Given the description of an element on the screen output the (x, y) to click on. 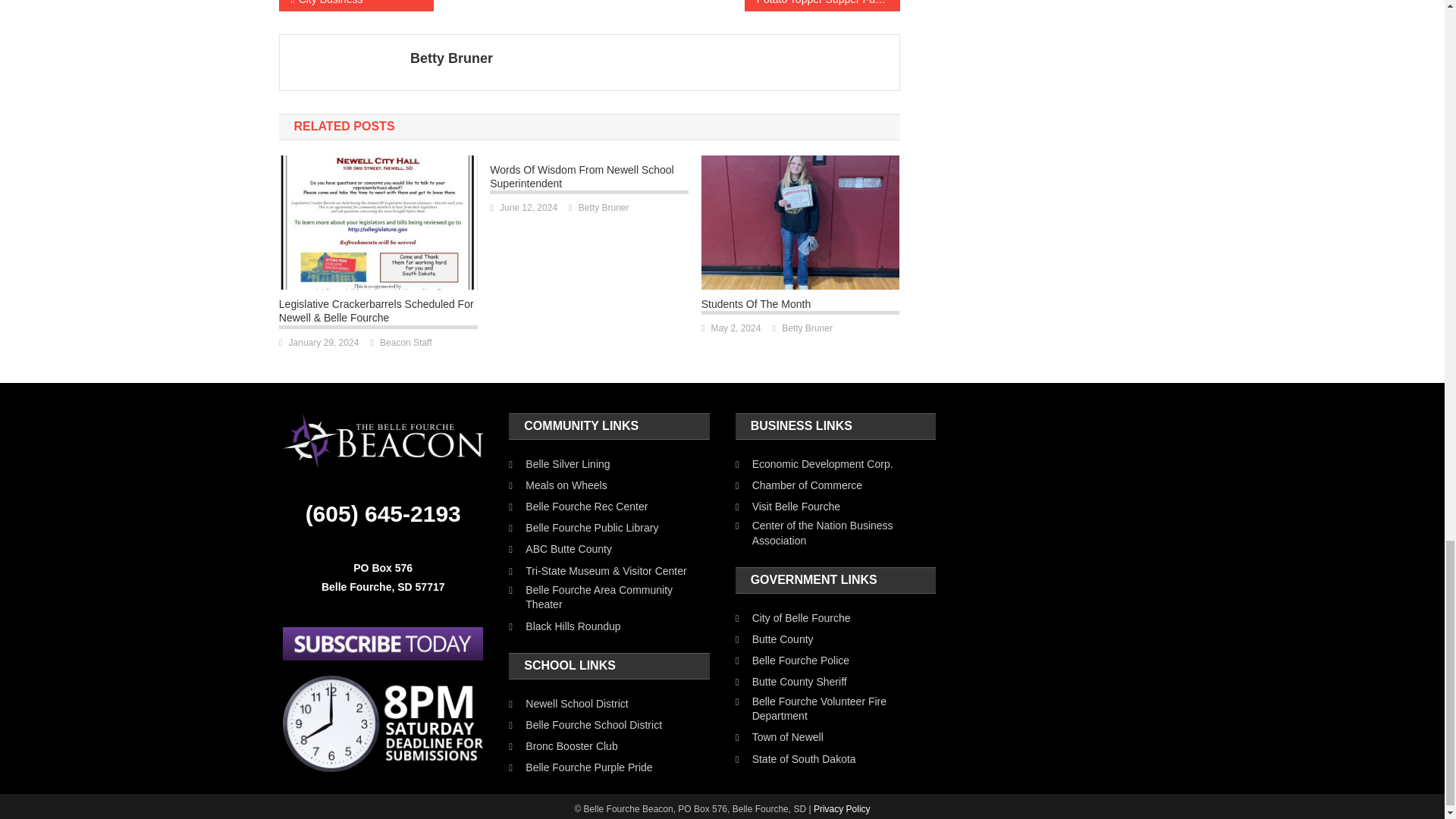
Potato Topper Supper Fundraiser (821, 5)
Betty Bruner (649, 57)
City Business (356, 5)
